Given the description of an element on the screen output the (x, y) to click on. 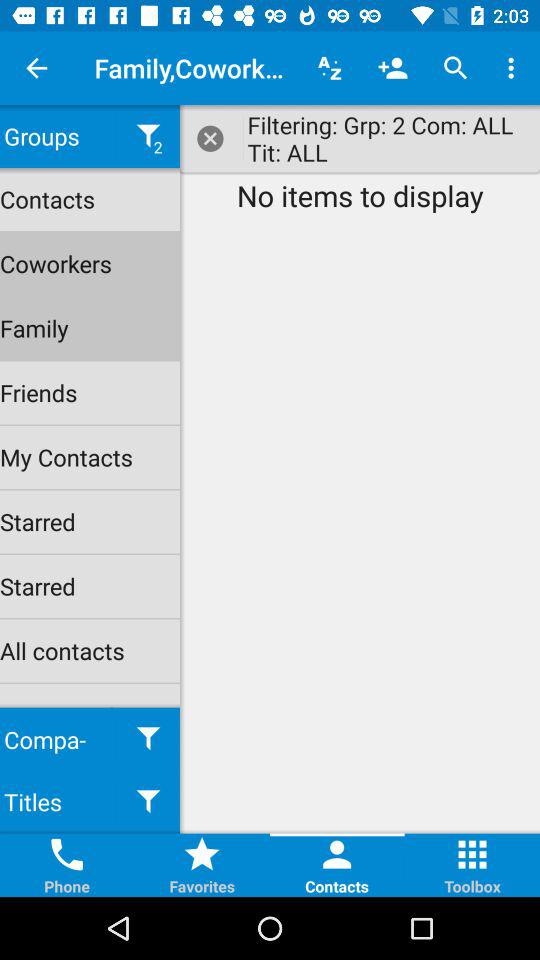
close (211, 138)
